Given the description of an element on the screen output the (x, y) to click on. 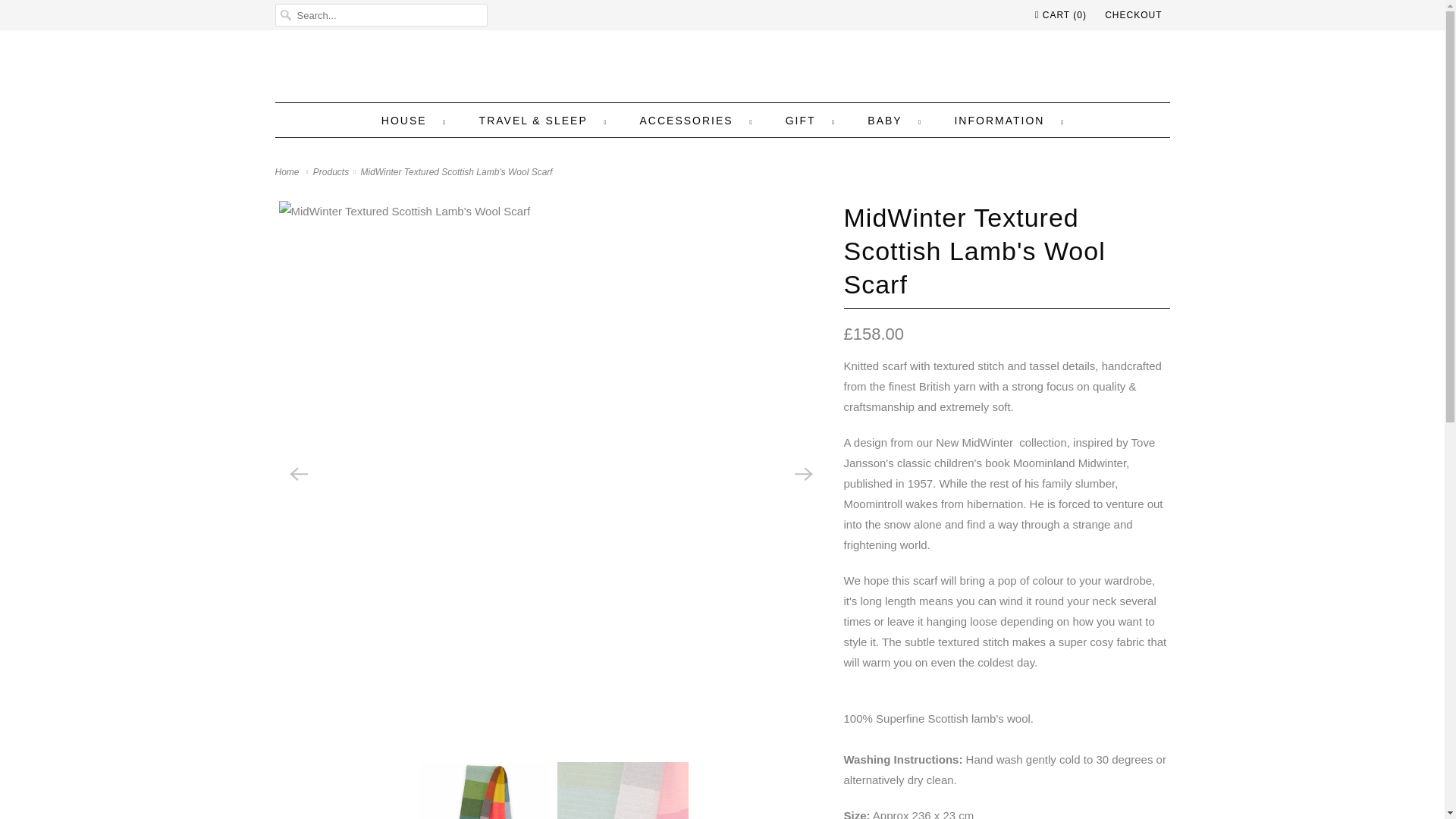
Row Pinto Knitwear (288, 172)
CHECKOUT (1133, 15)
Products (332, 172)
Row Pinto Knitwear (722, 69)
